Given the description of an element on the screen output the (x, y) to click on. 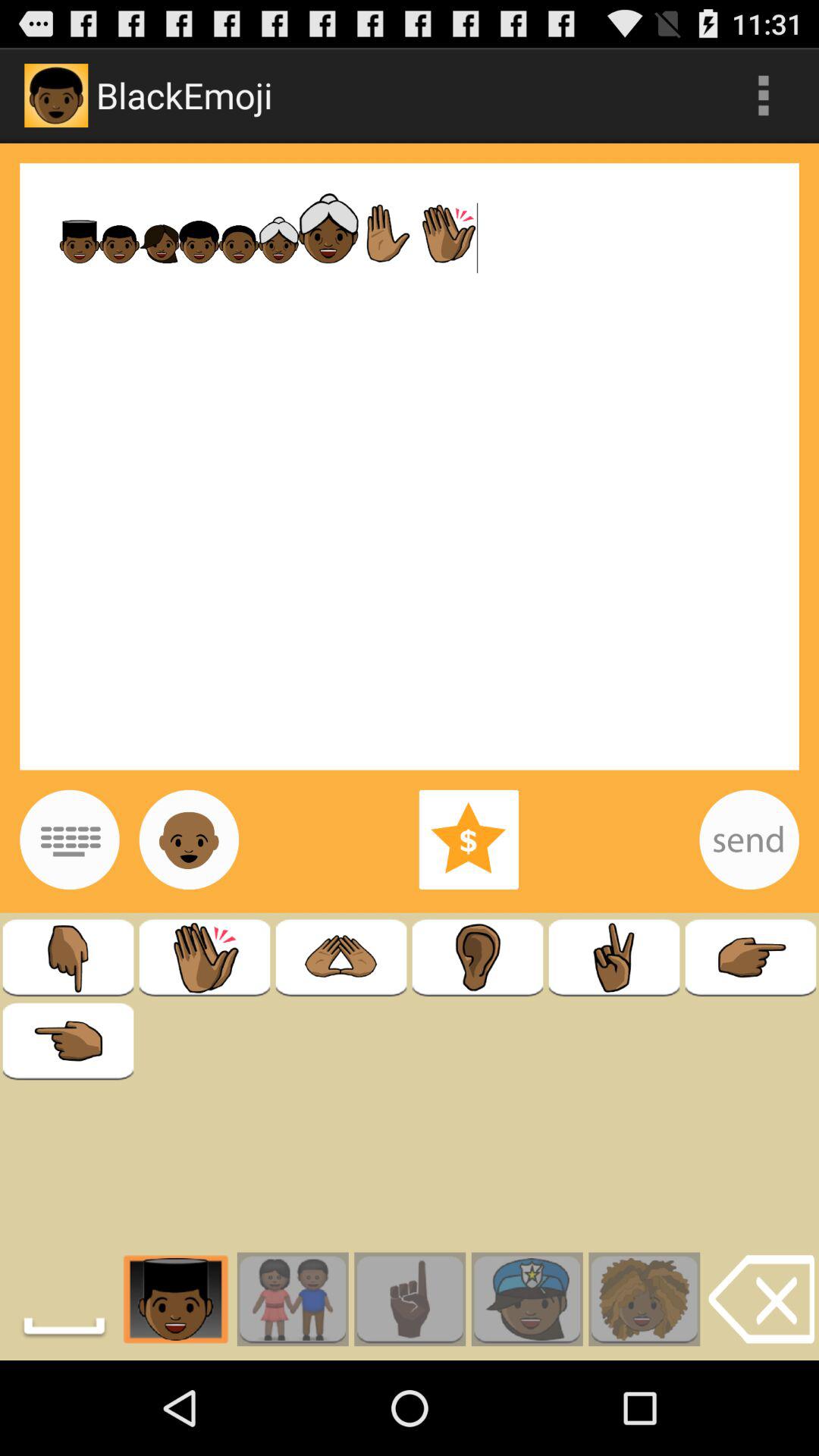
go to message (749, 839)
